Given the description of an element on the screen output the (x, y) to click on. 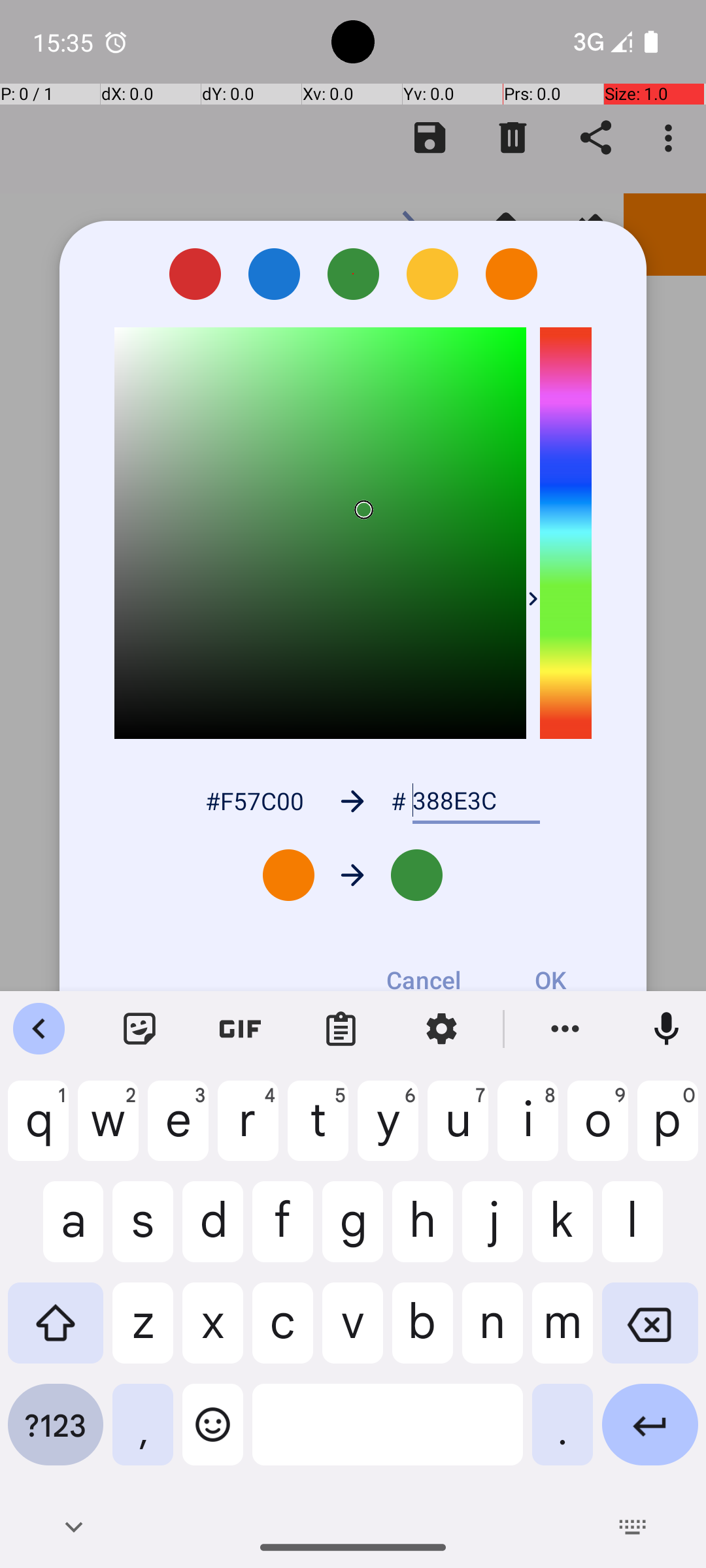
388E3C Element type: android.widget.EditText (475, 800)
